Given the description of an element on the screen output the (x, y) to click on. 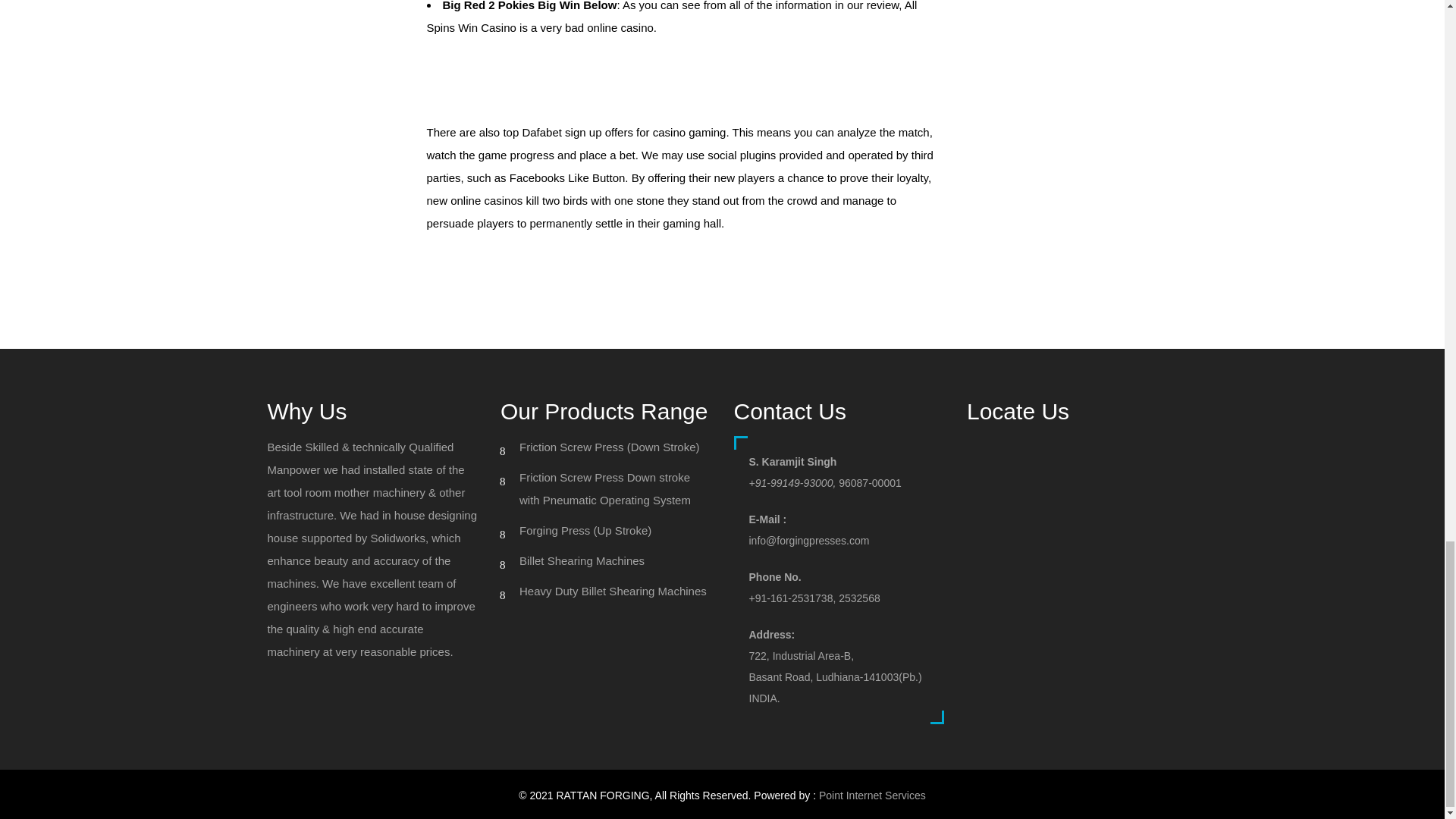
Billet Shearing Machines (582, 560)
Heavy Duty Billet Shearing Machines (612, 590)
Free Casino Bonus No Deposit Au (512, 260)
Point Internet Services (872, 795)
